Given the description of an element on the screen output the (x, y) to click on. 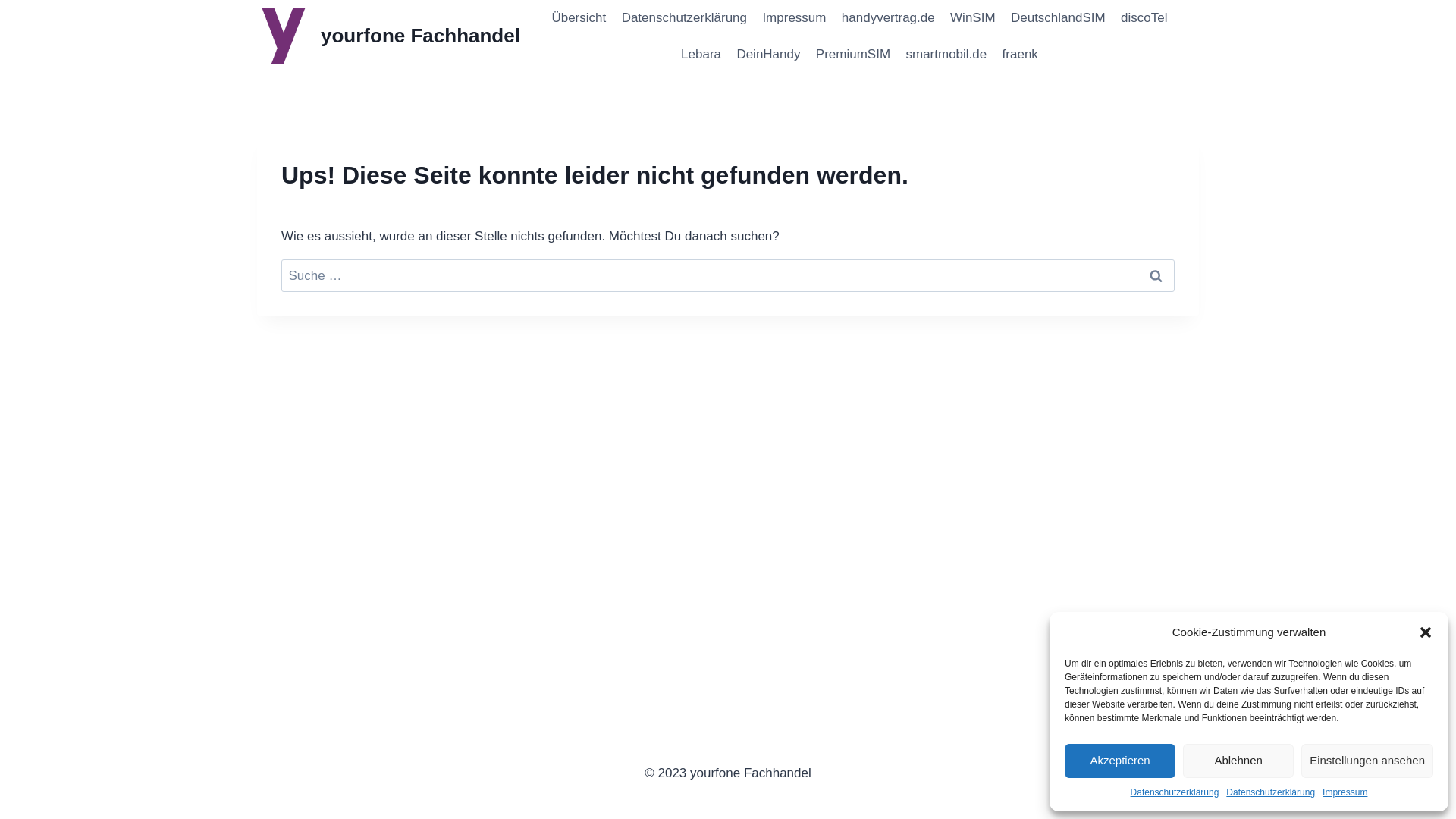
smartmobil.de Element type: text (945, 54)
fraenk Element type: text (1019, 54)
Suche Element type: text (1155, 275)
Akzeptieren Element type: text (1119, 760)
Impressum Element type: text (793, 18)
Impressum Element type: text (1344, 792)
discoTel Element type: text (1144, 18)
Einstellungen ansehen Element type: text (1367, 760)
Lebara Element type: text (700, 54)
Ablehnen Element type: text (1238, 760)
handyvertrag.de Element type: text (888, 18)
DeutschlandSIM Element type: text (1058, 18)
DeinHandy Element type: text (767, 54)
yourfone Fachhandel Element type: text (388, 35)
WinSIM Element type: text (972, 18)
PremiumSIM Element type: text (853, 54)
